Given the description of an element on the screen output the (x, y) to click on. 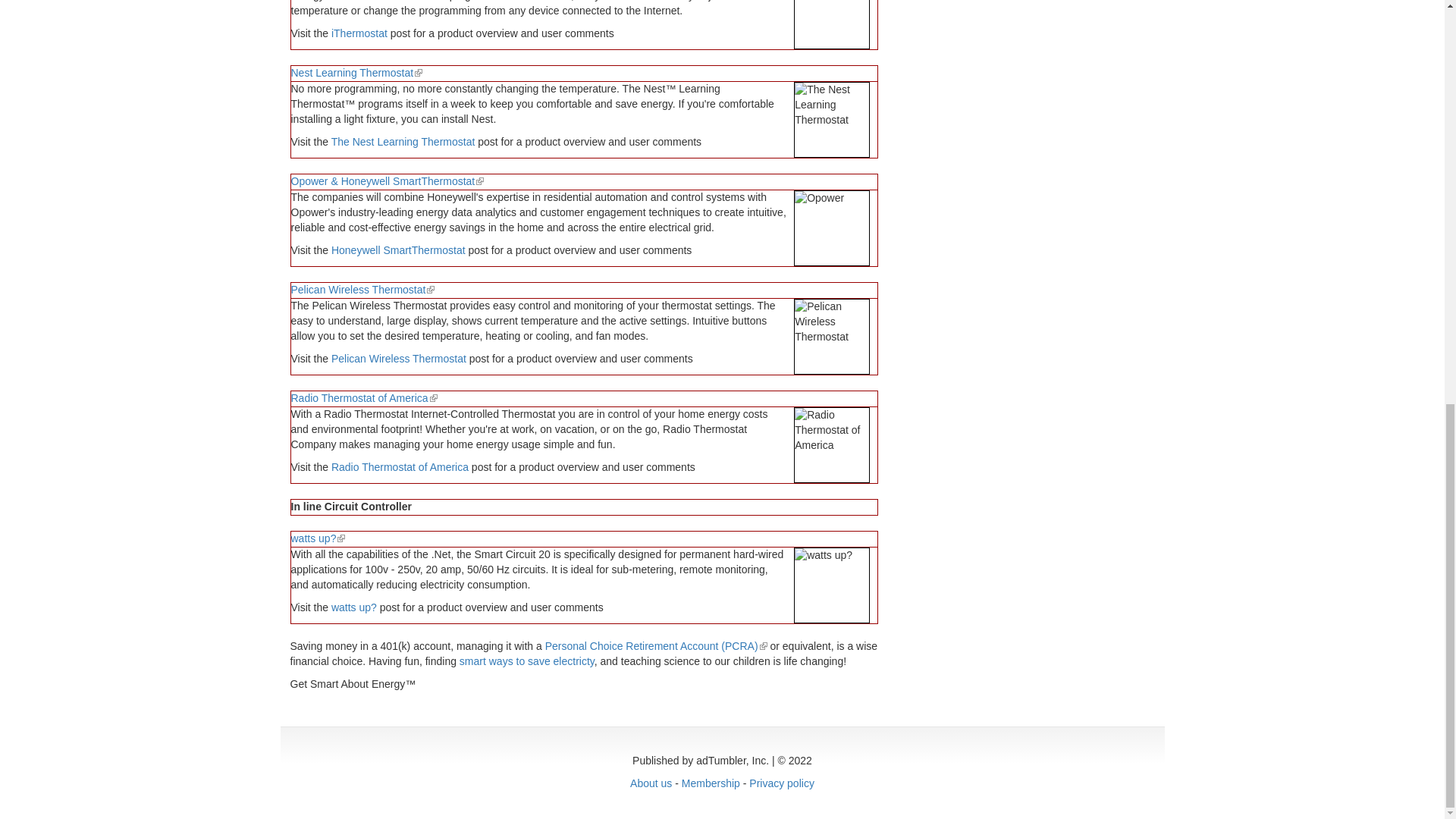
The Nest Learning Thermostat (403, 141)
iThermostat (831, 24)
smart ways to save electricty (527, 661)
iThermostat (359, 33)
Pelican Wireless Thermostat (398, 358)
watts up? (354, 607)
Home Energy Saving Devices Forum (359, 33)
Radio Thermostat of America (399, 467)
The Nest Learning Thermostat (831, 119)
Honeywell SmartThermostat (398, 250)
